Given the description of an element on the screen output the (x, y) to click on. 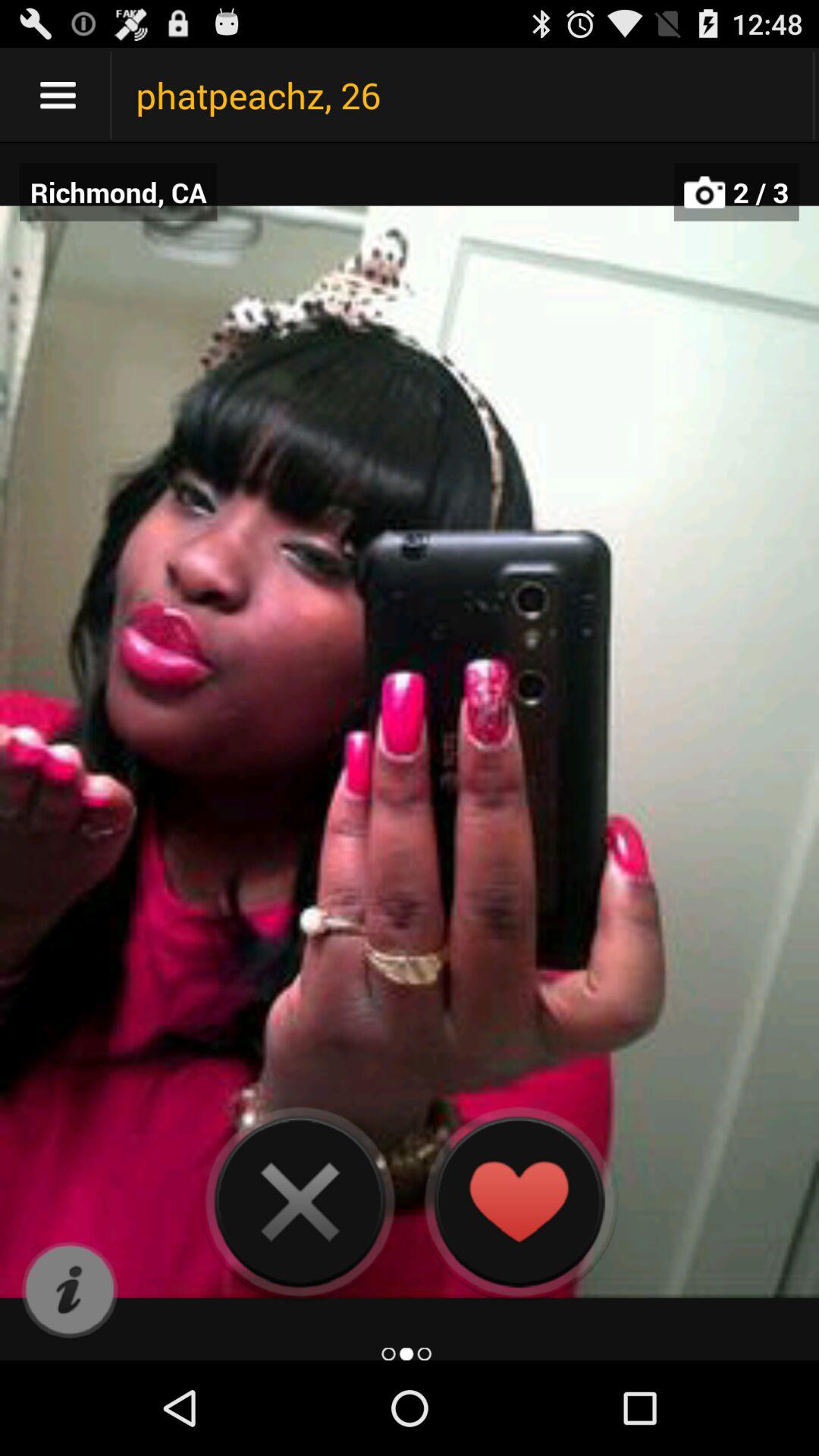
like (518, 1200)
